Given the description of an element on the screen output the (x, y) to click on. 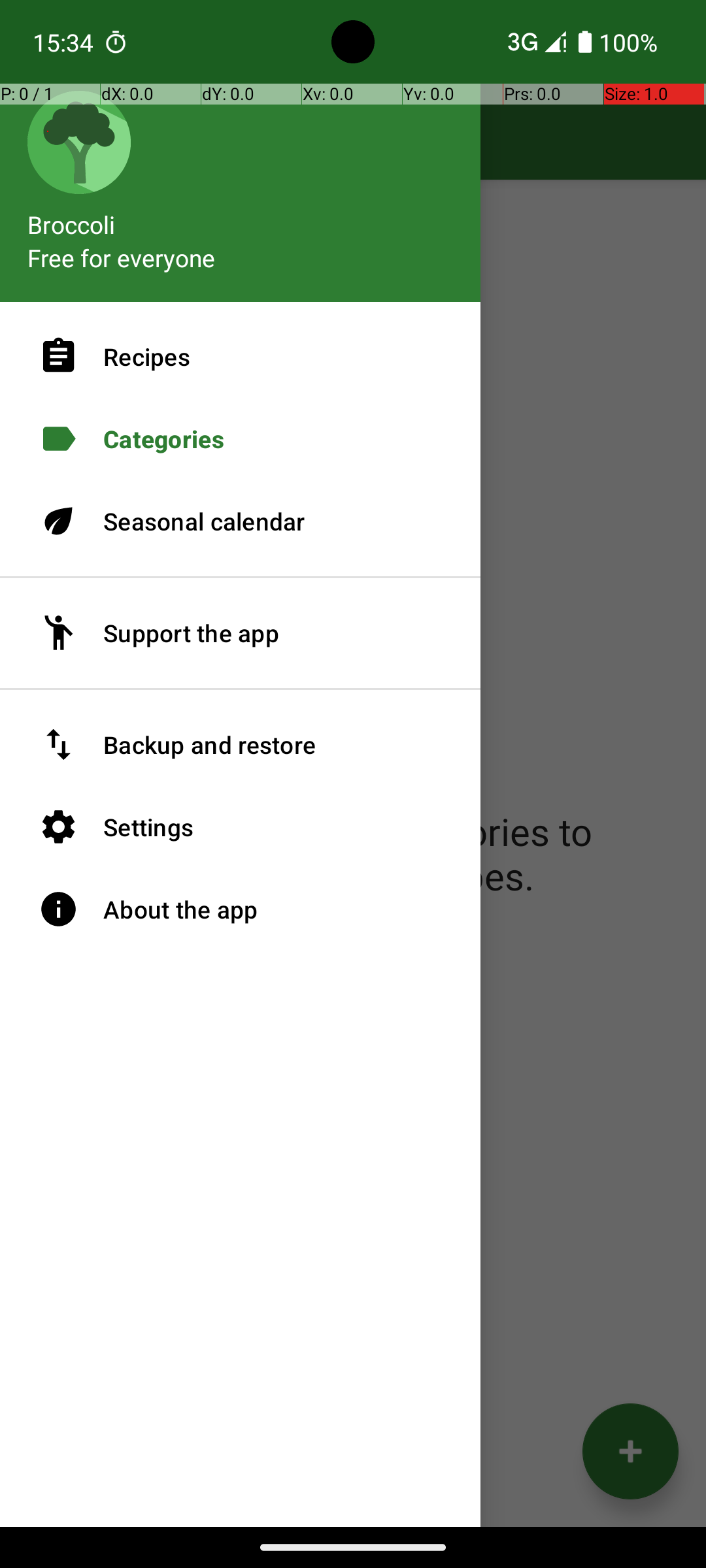
Broccoli Element type: android.widget.TextView (240, 217)
Free for everyone Element type: android.widget.TextView (121, 257)
Seasonal calendar Element type: android.widget.CheckedTextView (239, 521)
Support the app Element type: android.widget.CheckedTextView (239, 632)
Backup and restore Element type: android.widget.CheckedTextView (239, 744)
About the app Element type: android.widget.CheckedTextView (239, 909)
